Given the description of an element on the screen output the (x, y) to click on. 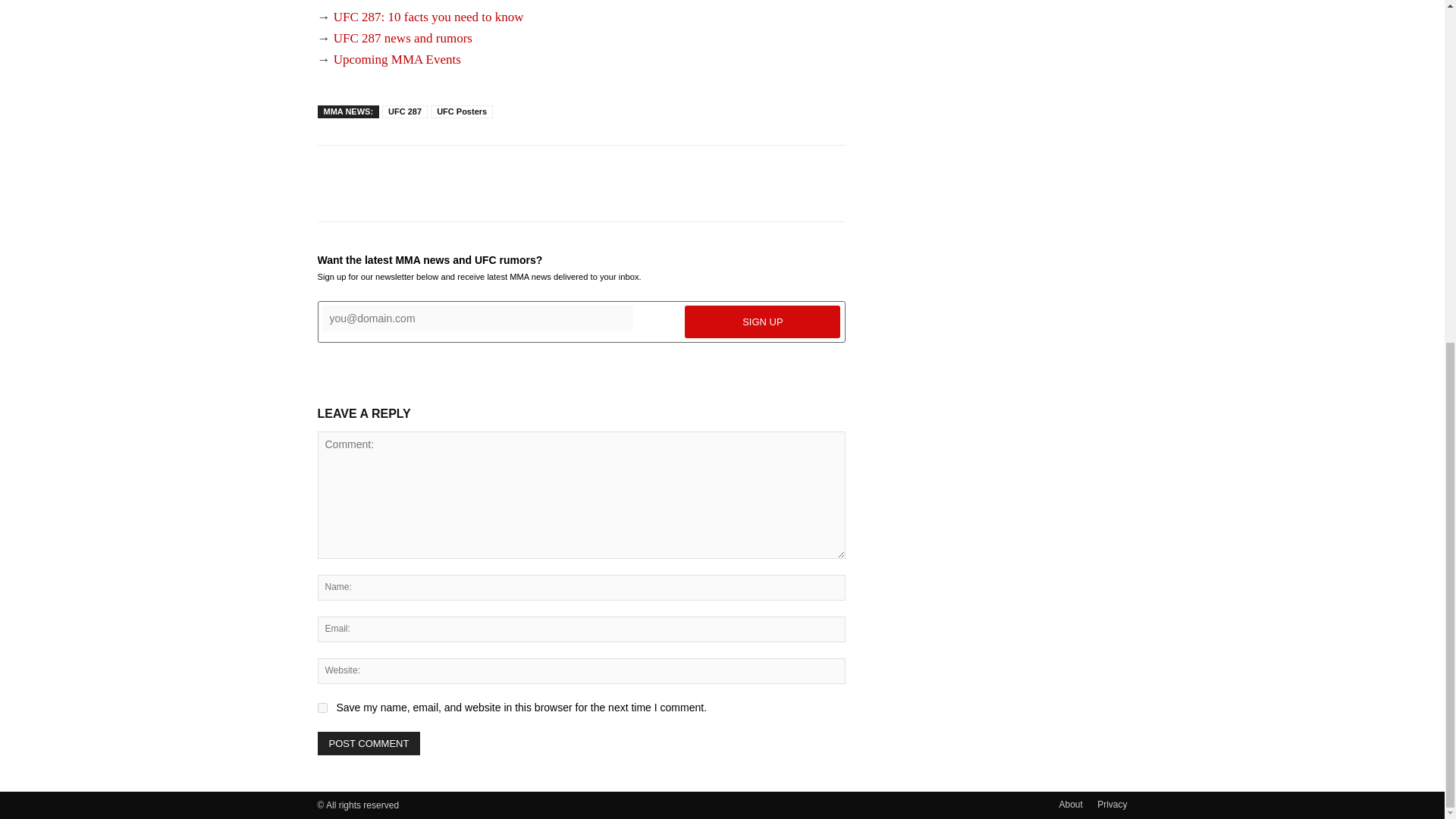
UFC 287: 10 facts you need to know (428, 16)
SIGN UP (762, 321)
UFC 287 news and rumors (402, 38)
Upcoming MMA Events (397, 59)
Post Comment (368, 743)
UFC Posters (461, 111)
yes (321, 707)
About (1069, 804)
UFC 287 card (369, 1)
UFC 287 (404, 111)
Post Comment (368, 743)
SIGN UP (762, 321)
